Given the description of an element on the screen output the (x, y) to click on. 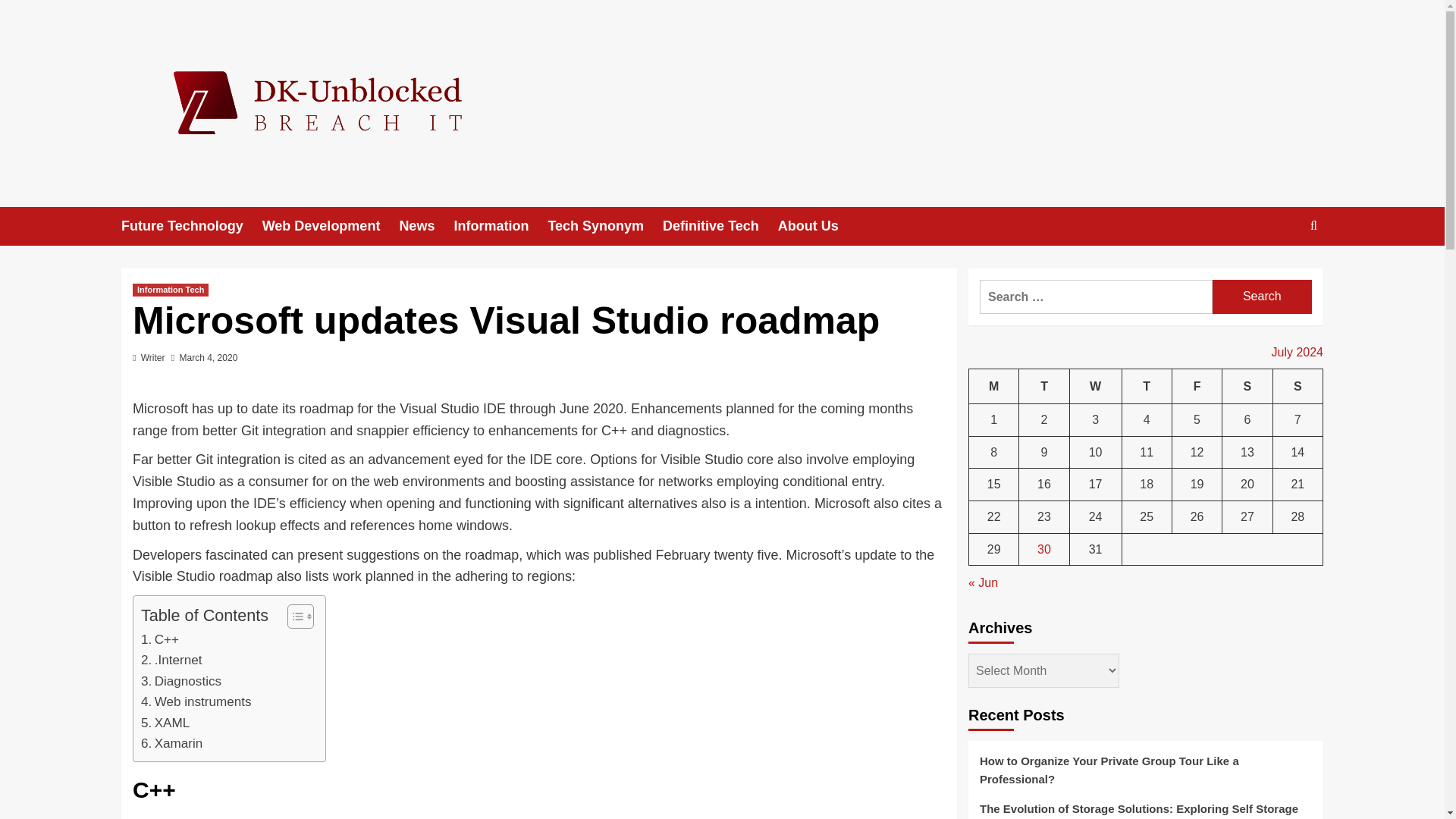
Xamarin (171, 743)
Web Development (330, 226)
March 4, 2020 (208, 357)
Search (1261, 296)
Tech Synonym (604, 226)
Friday (1196, 386)
Writer (153, 357)
News (425, 226)
Search (1261, 296)
Web instruments (196, 701)
XAML (165, 722)
Thursday (1146, 386)
.Internet (171, 660)
Monday (994, 386)
Diagnostics (181, 680)
